Given the description of an element on the screen output the (x, y) to click on. 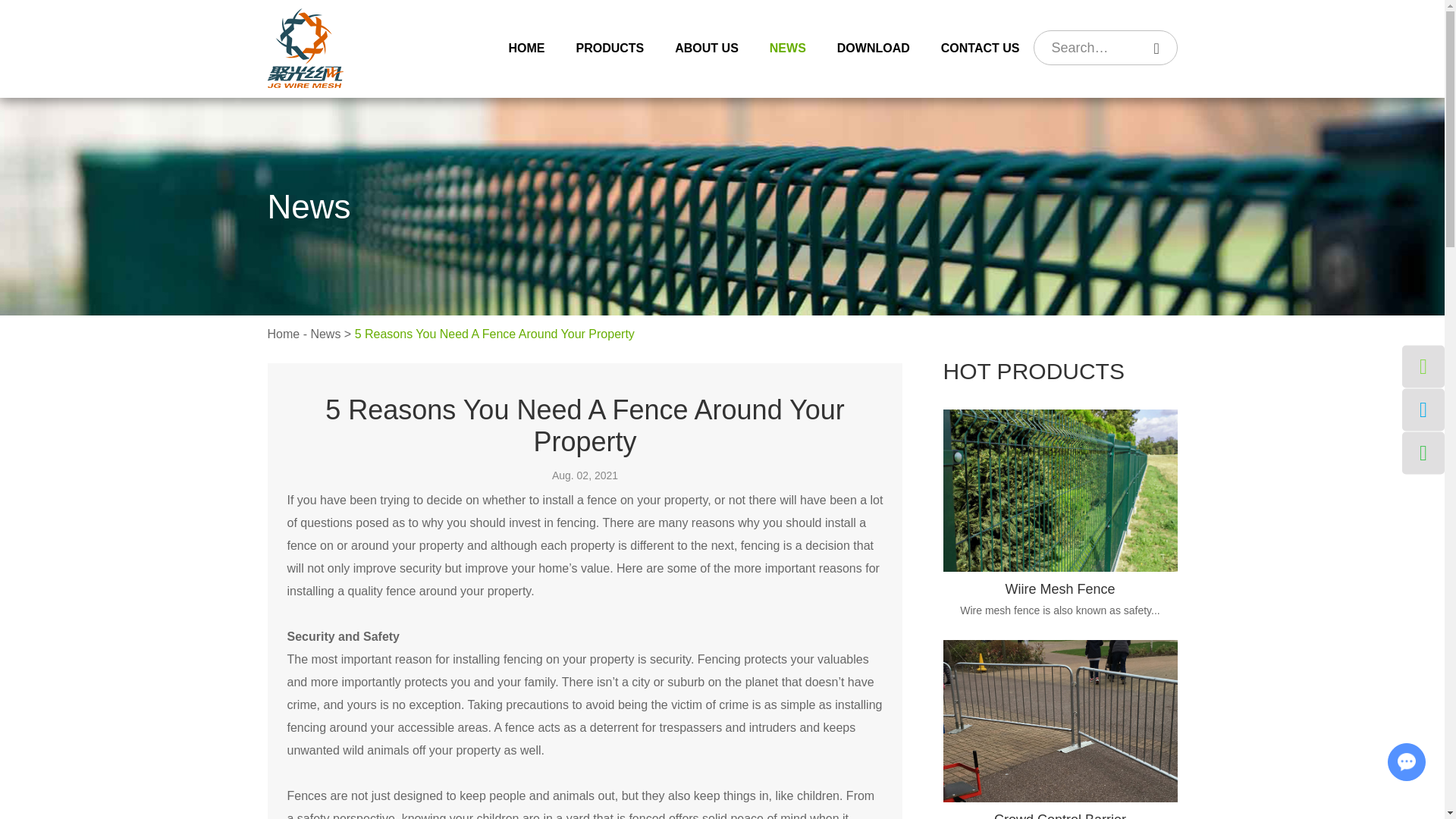
Wiire Mesh Fence (1060, 490)
News (325, 333)
Wiire Mesh Fence (1060, 588)
Contact Us (980, 48)
Wiire Mesh Fence (1060, 588)
About Us (705, 48)
CONTACT US (980, 48)
Anping Juguang Wire Mesh Manufacturing Co.,Ltd. (304, 47)
NEWS (787, 48)
PRODUCTS (608, 48)
